Given the description of an element on the screen output the (x, y) to click on. 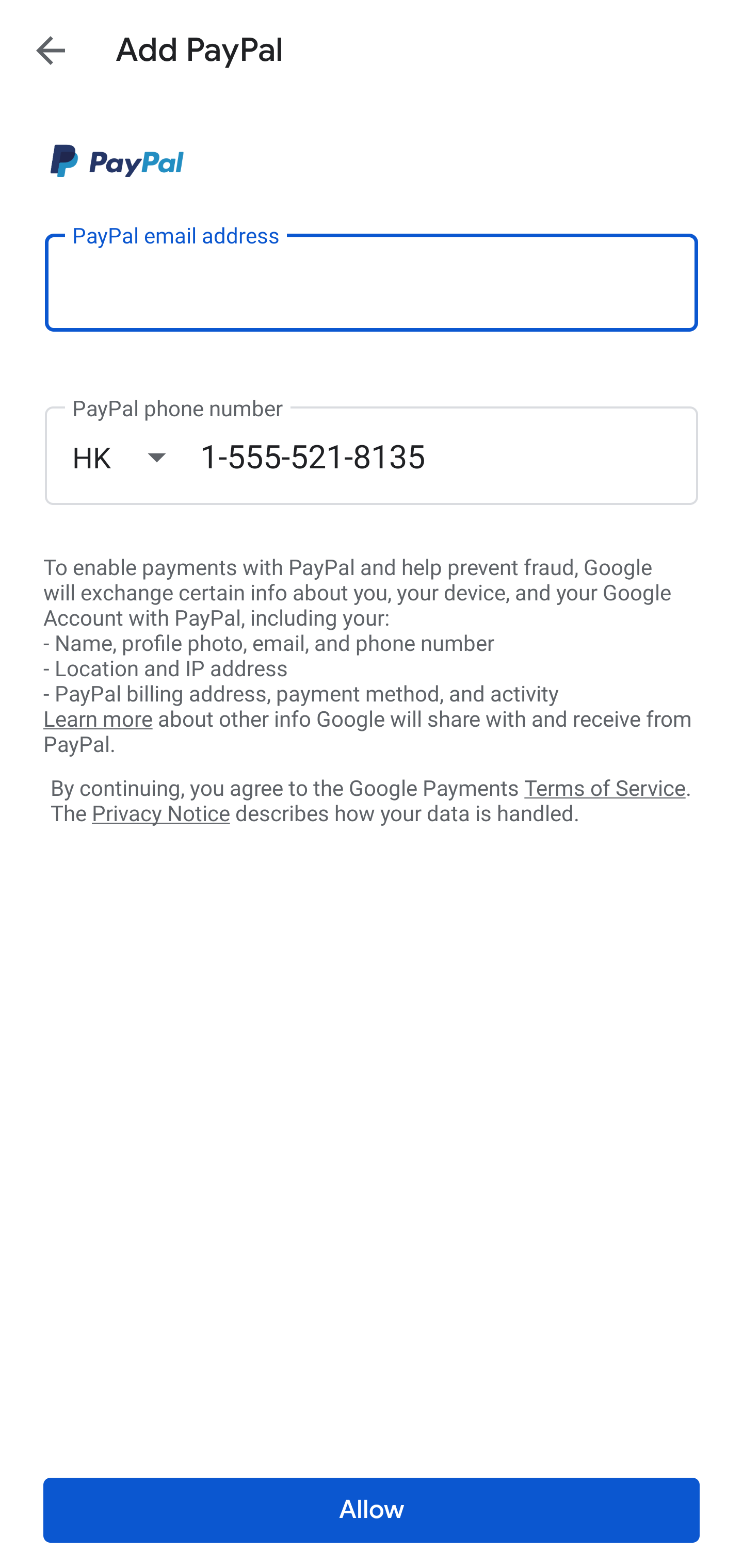
Navigate up (50, 50)
PayPal email address (371, 282)
HK (135, 456)
Learn more (97, 719)
Terms of Service (604, 787)
Privacy Notice (160, 814)
Allow (371, 1510)
